Given the description of an element on the screen output the (x, y) to click on. 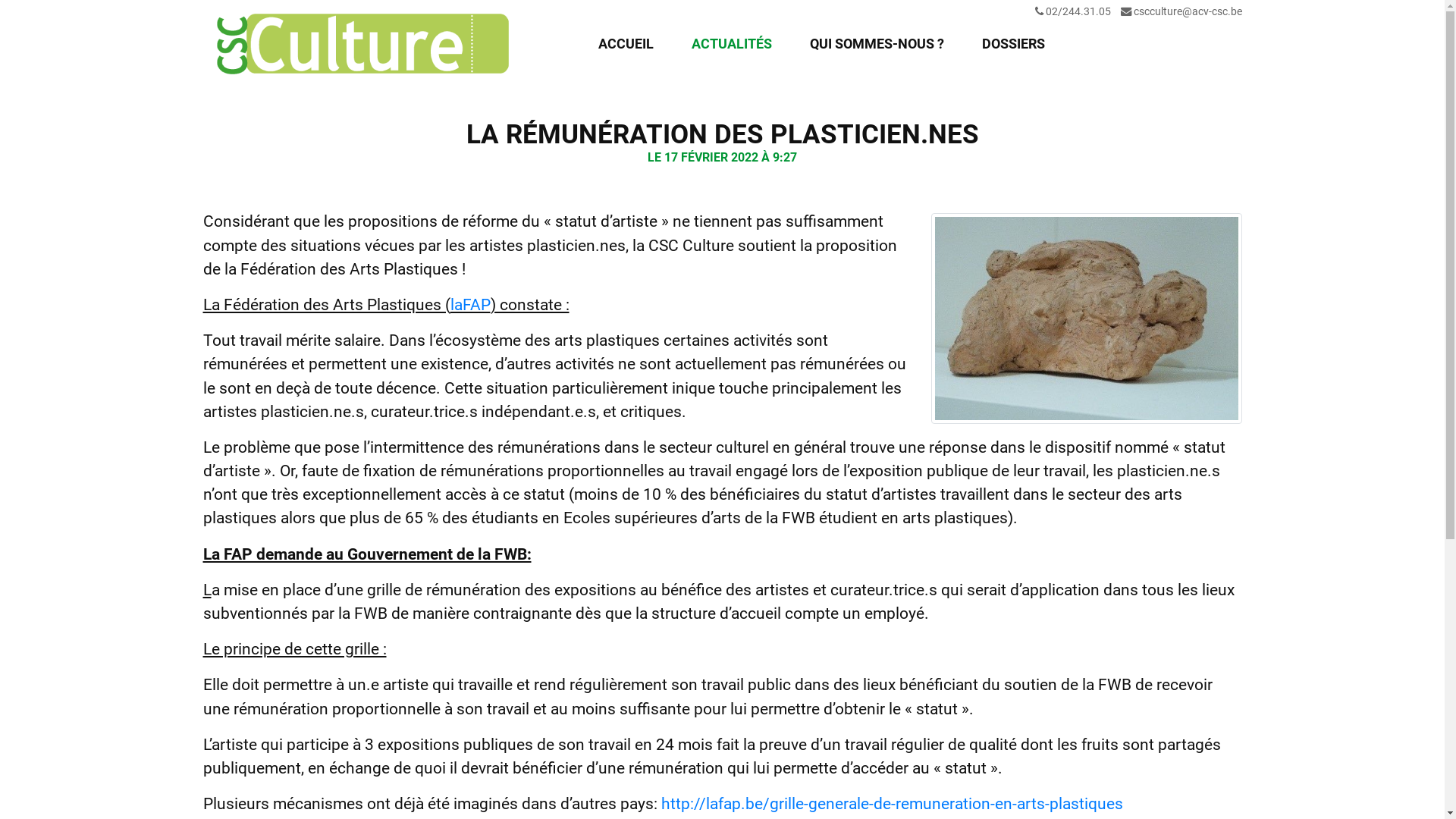
ACCUEIL Element type: text (624, 43)
laFAP Element type: text (470, 304)
QUI SOMMES-NOUS ? Element type: text (876, 43)
cscculture@acv-csc.be Element type: text (1186, 11)
DOSSIERS Element type: text (1012, 43)
